Given the description of an element on the screen output the (x, y) to click on. 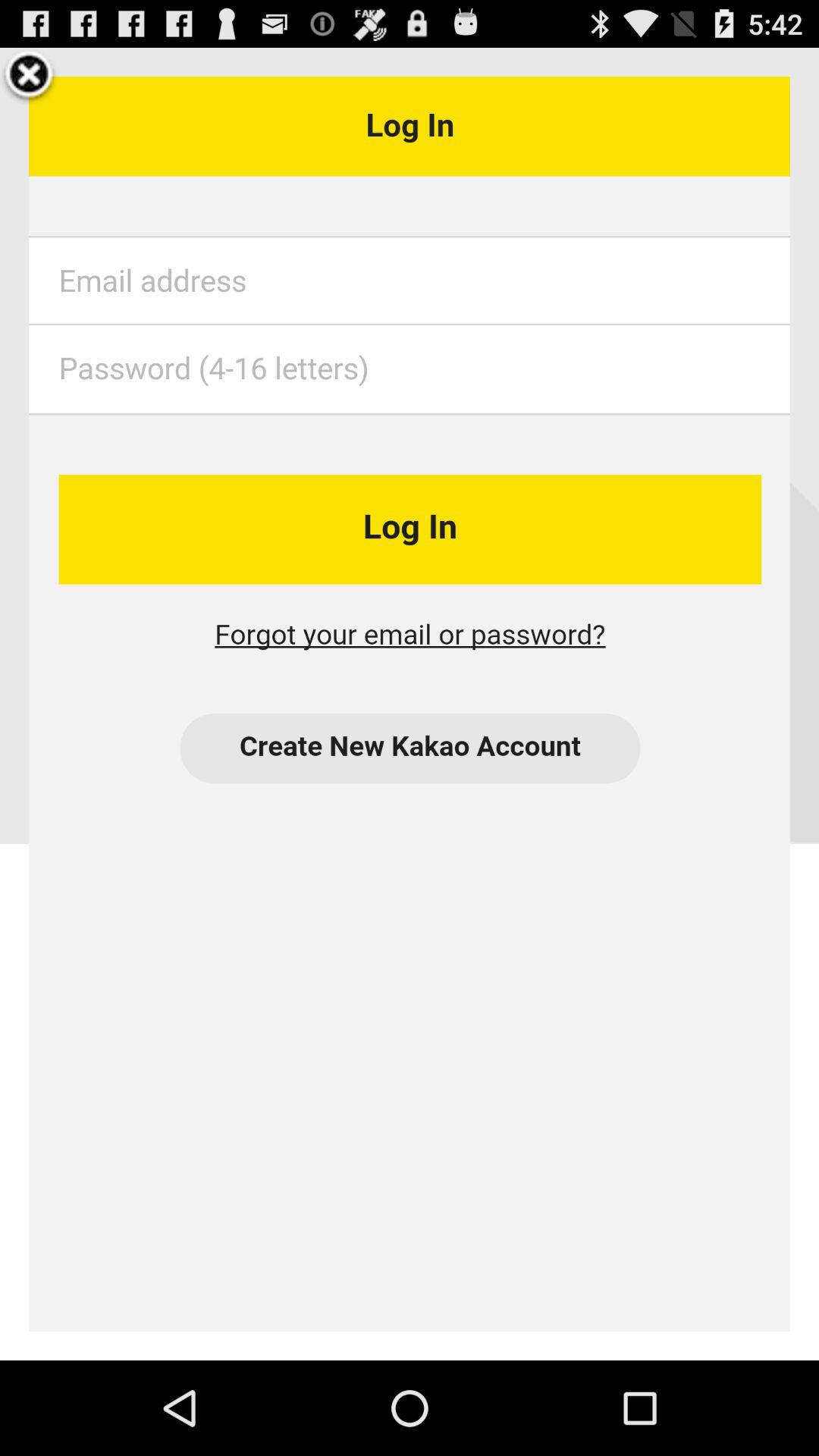
log in (409, 703)
